Given the description of an element on the screen output the (x, y) to click on. 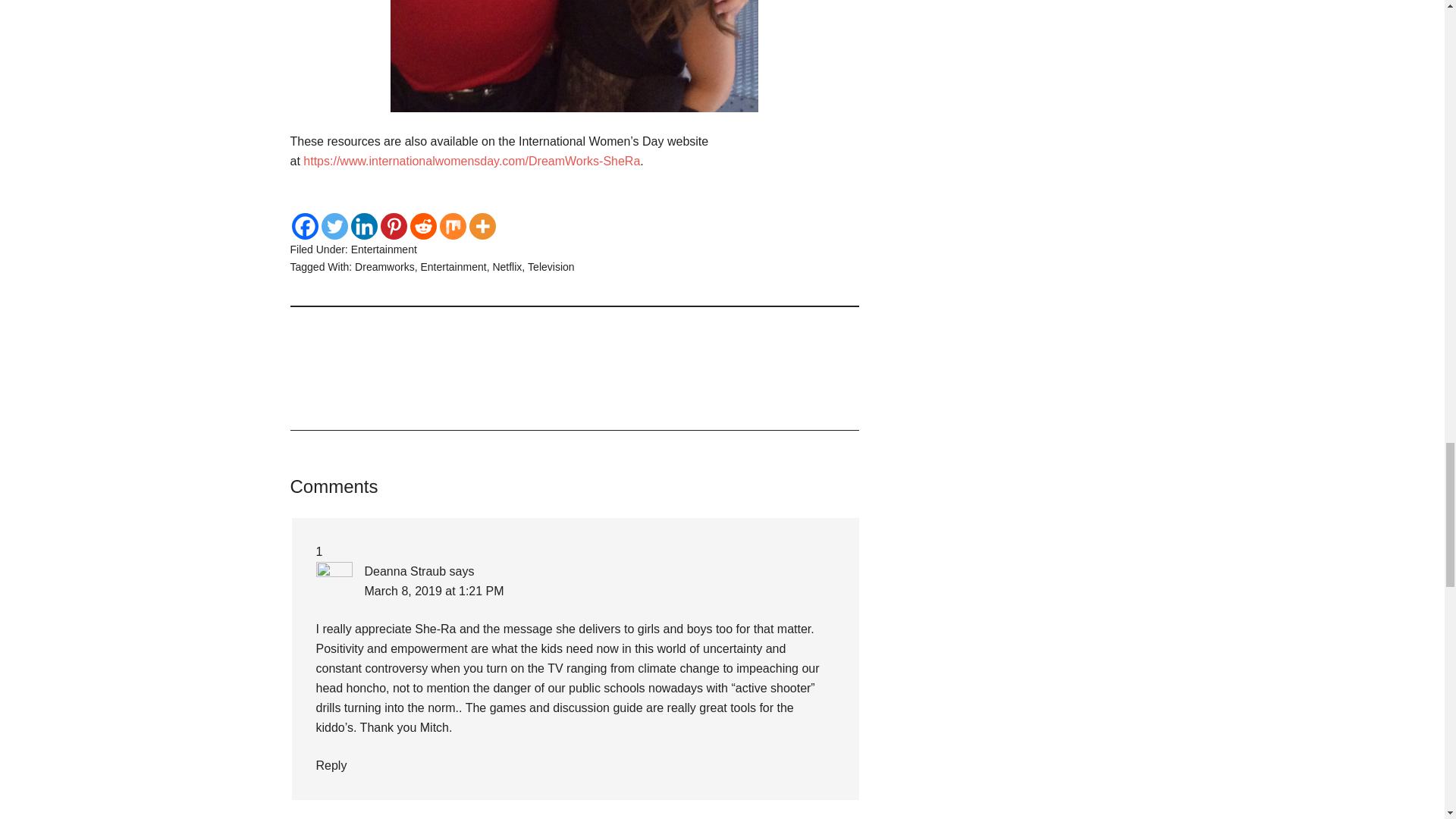
Pinterest (393, 225)
Linkedin (363, 225)
Reddit (422, 225)
Facebook (304, 225)
More (481, 225)
Mix (452, 225)
Twitter (334, 225)
